Given the description of an element on the screen output the (x, y) to click on. 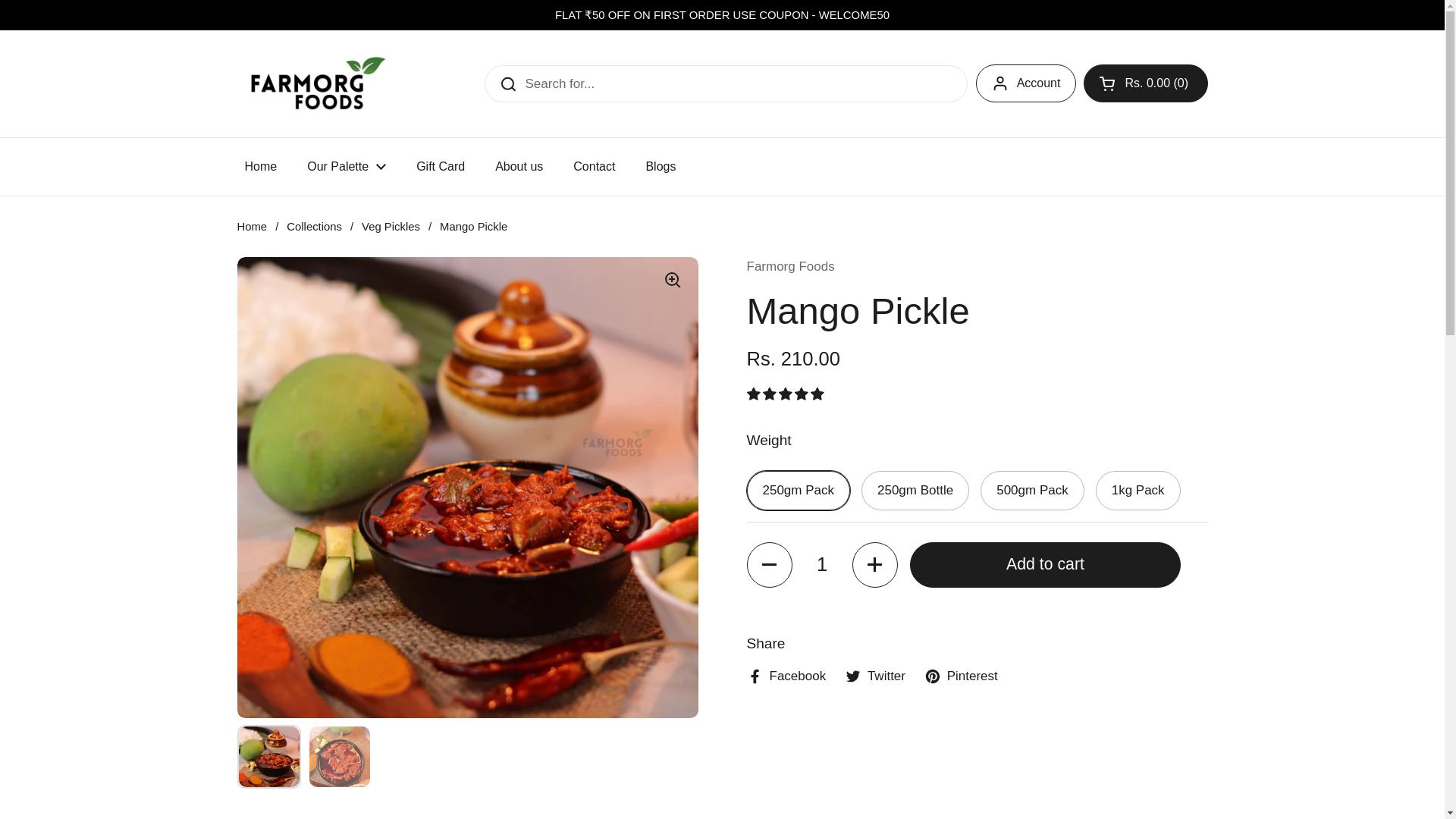
Veg Pickles (390, 226)
Share on facebook (785, 676)
Home (260, 166)
Gift Card (440, 166)
1 (821, 565)
Contact (593, 166)
Open cart (1145, 83)
Blogs (660, 166)
Share on pinterest (960, 676)
